Given the description of an element on the screen output the (x, y) to click on. 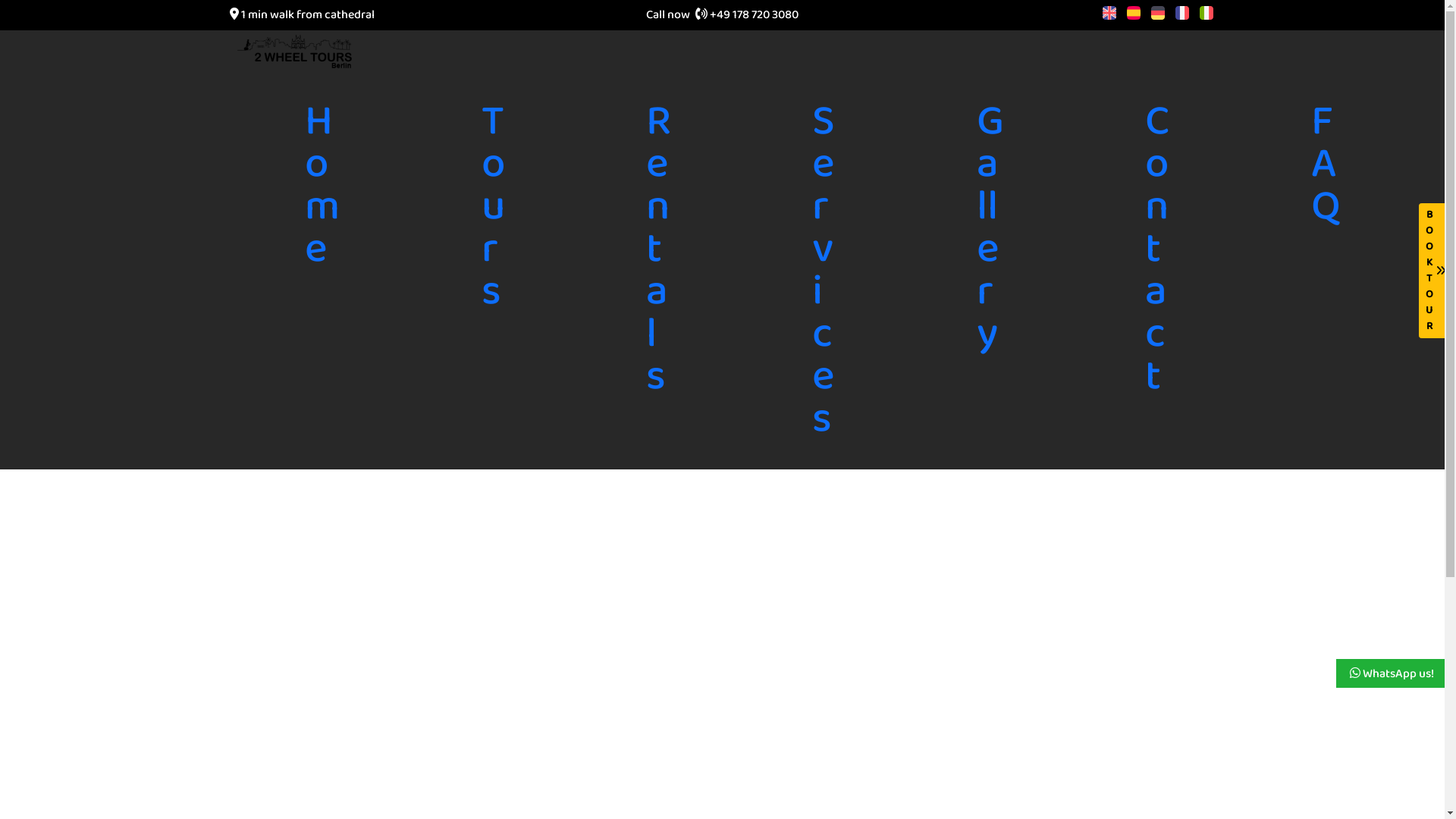
FAQ Element type: text (1326, 164)
Home Element type: text (888, 281)
Home Element type: text (321, 185)
Contact Element type: text (1157, 249)
Rentals Element type: text (893, 534)
Services Element type: text (891, 678)
Services Element type: text (823, 270)
Segway Tours Element type: text (900, 389)
Cookies Element type: text (1073, 570)
Stuff Element type: text (1049, 667)
Legal Terms Element type: text (1057, 462)
WhatsApp us! Element type: text (1390, 672)
Rentals Element type: text (658, 249)
Tours Element type: text (492, 207)
BOOK TOUR Element type: text (1435, 270)
GO TO PAGE Element type: text (721, 169)
Privacy Policy Element type: text (1068, 317)
Gallery Element type: text (989, 228)
